Given the description of an element on the screen output the (x, y) to click on. 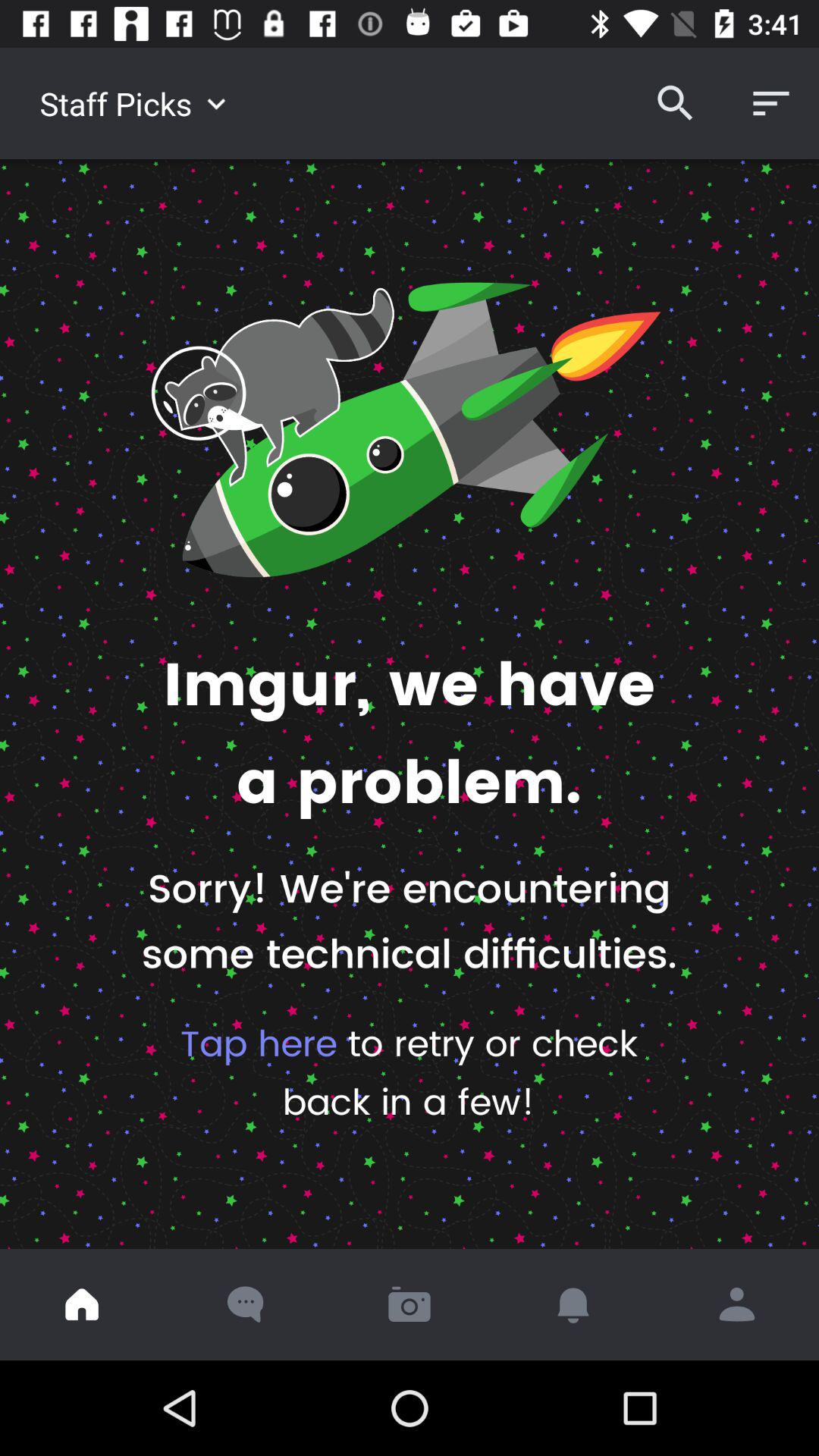
take a photo (409, 1304)
